Given the description of an element on the screen output the (x, y) to click on. 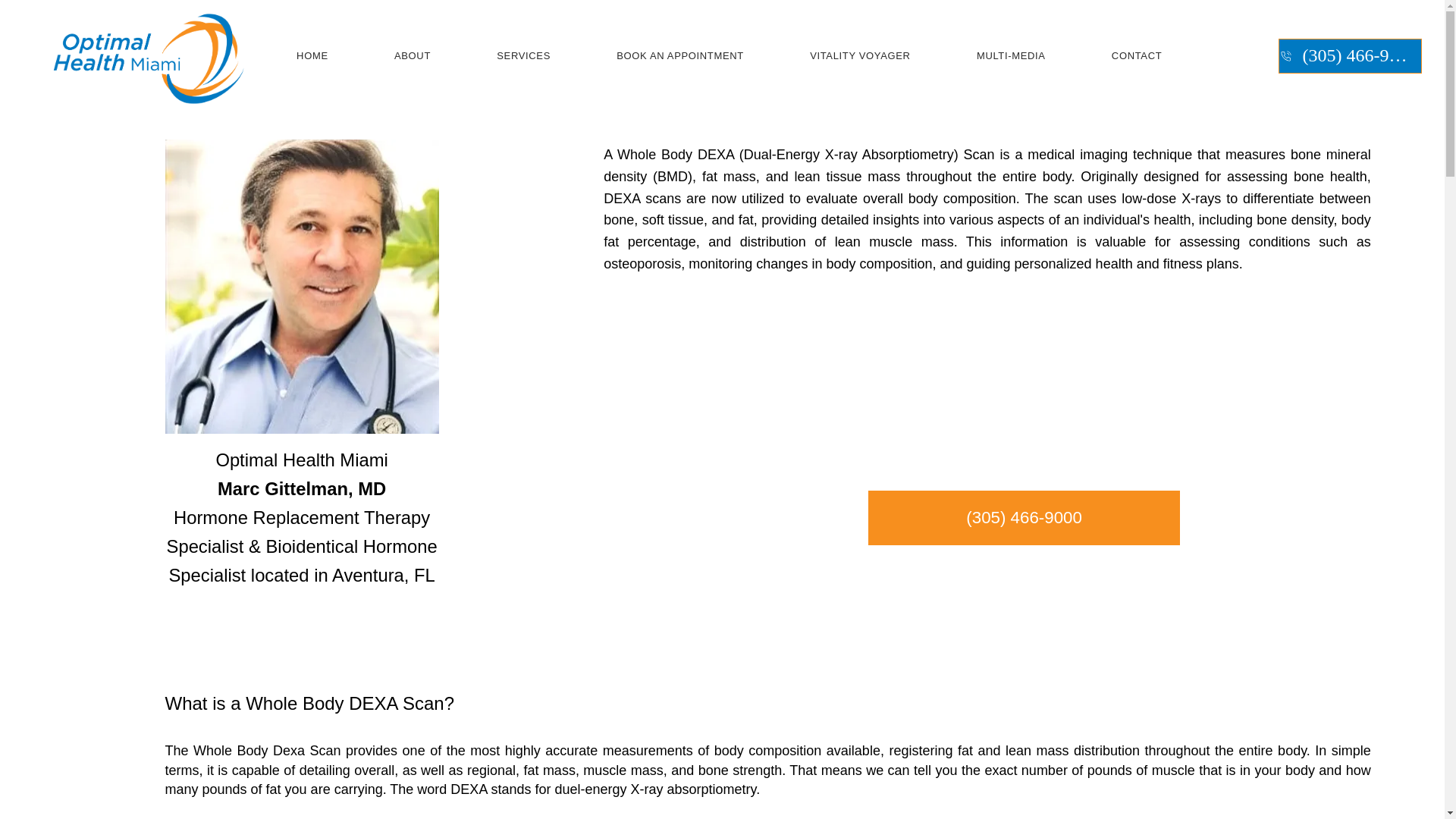
SERVICES (523, 55)
CONTACT (1136, 55)
BOOK AN APPOINTMENT (680, 55)
ABOUT (412, 55)
MULTI-MEDIA (1010, 55)
HOME (312, 55)
VITALITY VOYAGER (860, 55)
